Given the description of an element on the screen output the (x, y) to click on. 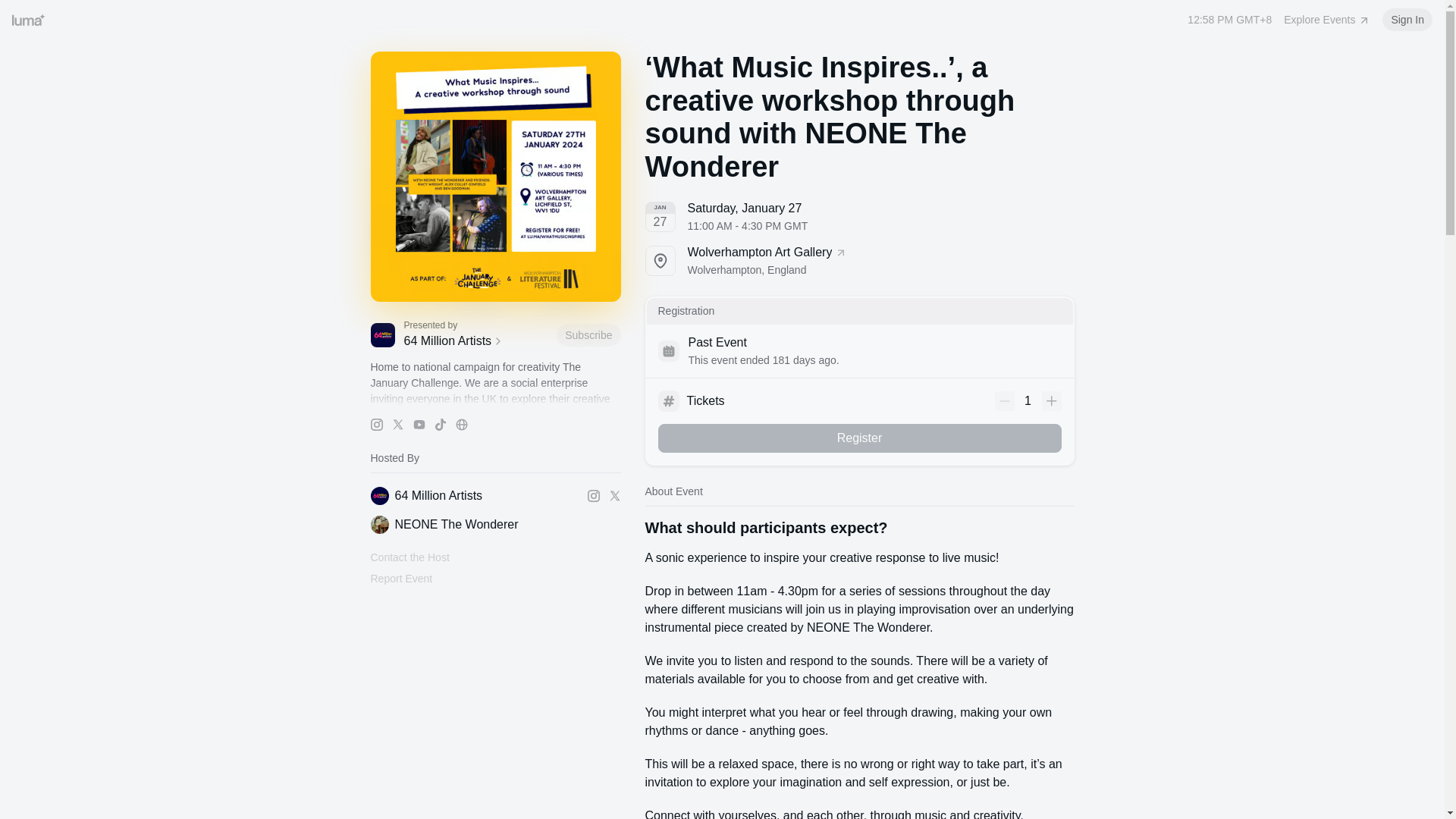
Subscribe (588, 334)
Contact the Host (859, 260)
64 Million Artists (408, 557)
64 Million Artists (476, 341)
Register (474, 495)
Explore Events (859, 438)
Report Event (1327, 19)
NEONE The Wonderer (400, 578)
Sign In (494, 524)
